Given the description of an element on the screen output the (x, y) to click on. 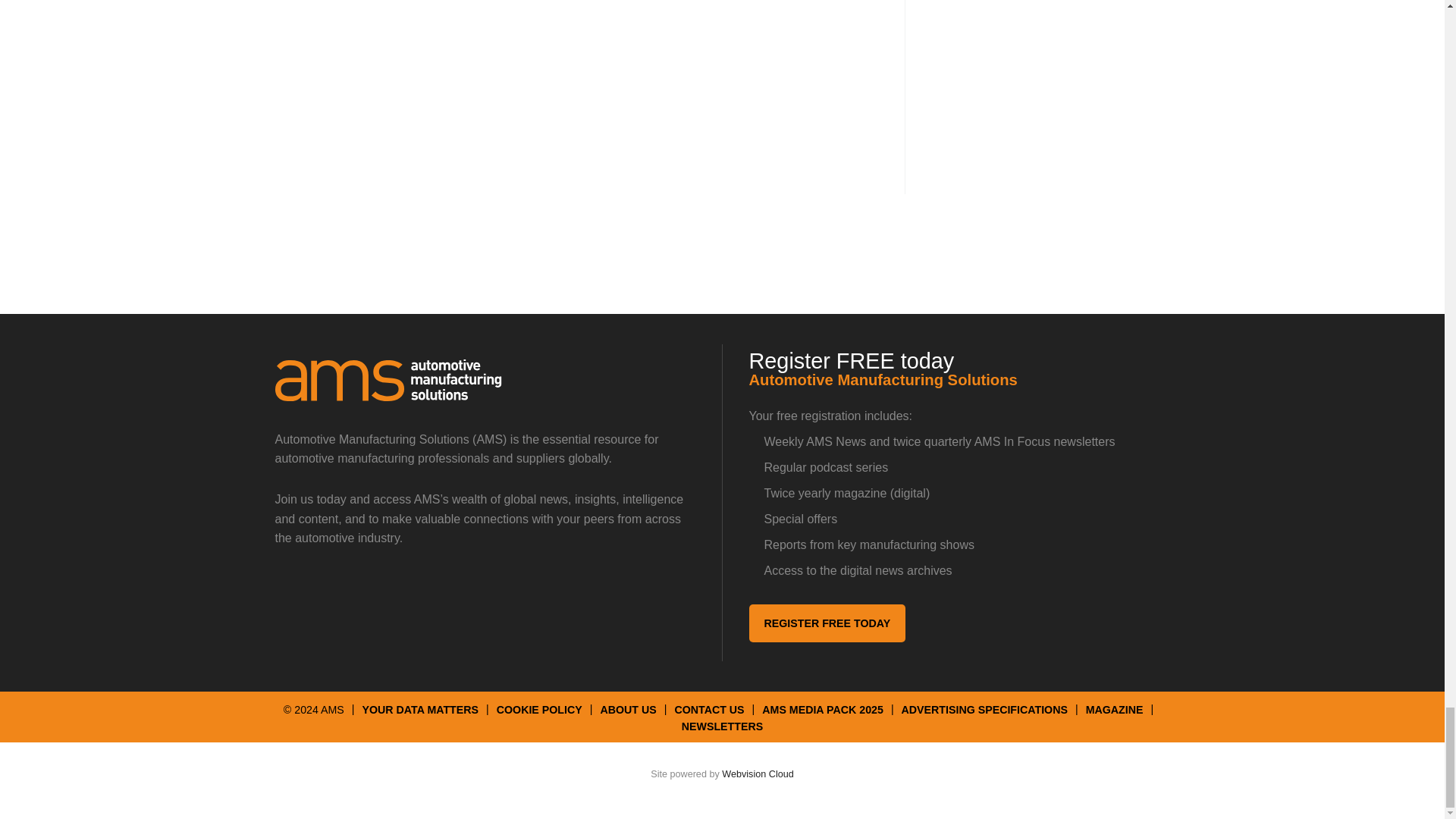
Connect with us on Linked In (346, 594)
Connect with us on Twitter (294, 594)
Connect with us on Facebook (399, 594)
